Given the description of an element on the screen output the (x, y) to click on. 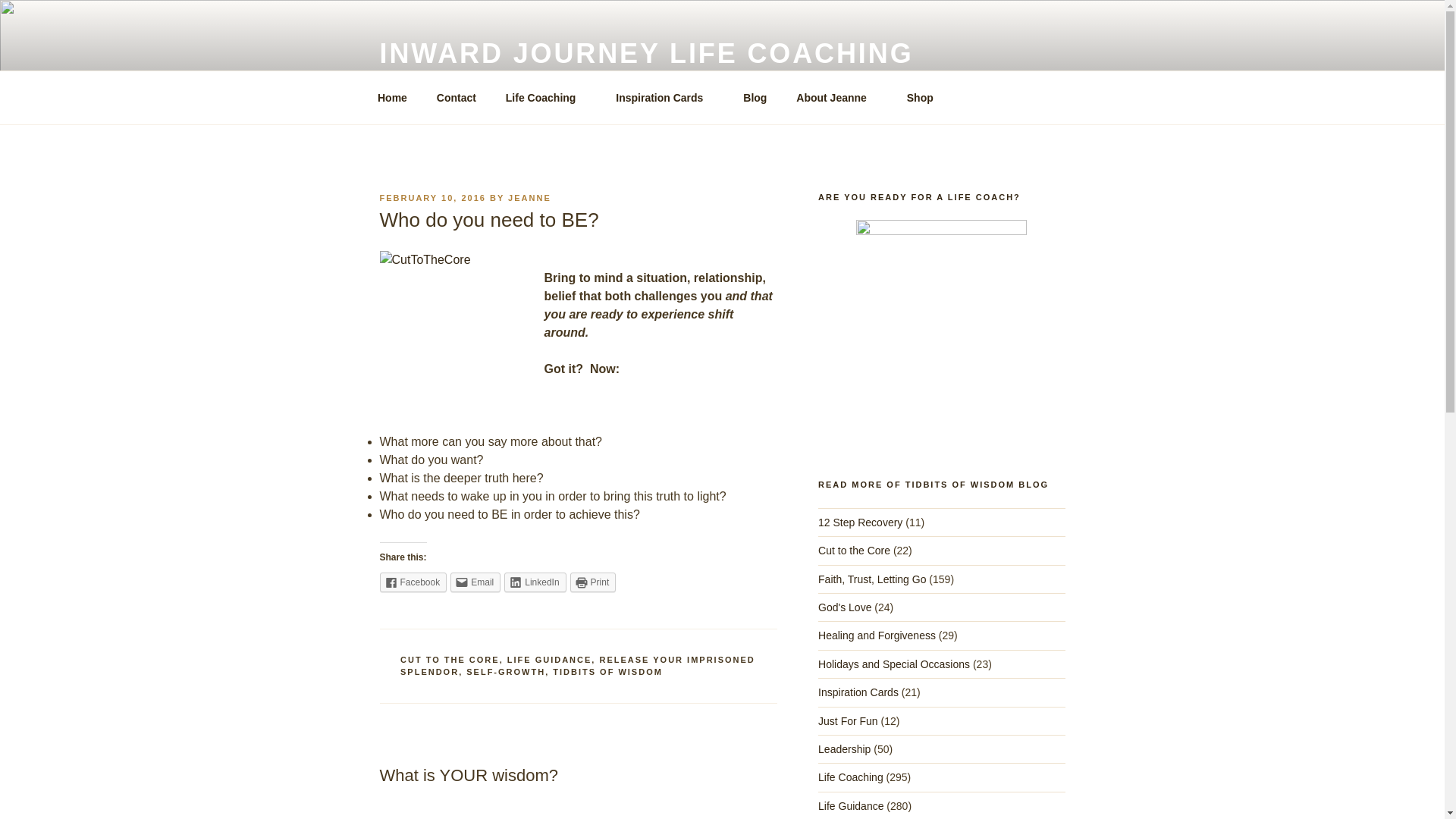
Contact (456, 97)
Inspiration Cards (664, 97)
Email (474, 582)
INWARD JOURNEY LIFE COACHING (645, 52)
FEBRUARY 10, 2016 (431, 197)
Shop (924, 97)
Home (392, 97)
About Jeanne (837, 97)
CUT TO THE CORE (449, 659)
Blog (755, 97)
